Given the description of an element on the screen output the (x, y) to click on. 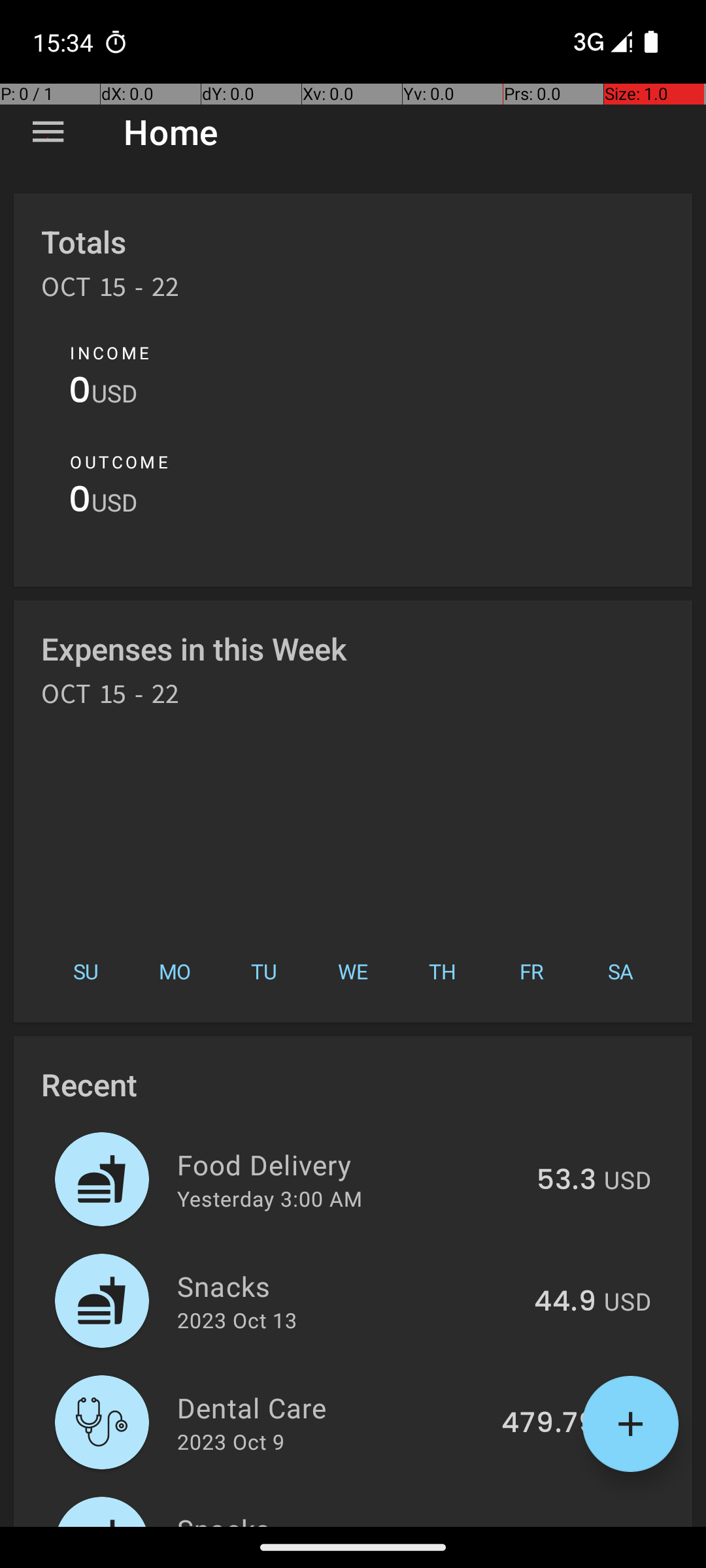
Food Delivery Element type: android.widget.TextView (349, 1164)
Yesterday 3:00 AM Element type: android.widget.TextView (269, 1198)
53.3 Element type: android.widget.TextView (566, 1180)
Snacks Element type: android.widget.TextView (347, 1285)
44.9 Element type: android.widget.TextView (564, 1301)
479.79 Element type: android.widget.TextView (548, 1423)
453.25 Element type: android.widget.TextView (548, 1524)
